Given the description of an element on the screen output the (x, y) to click on. 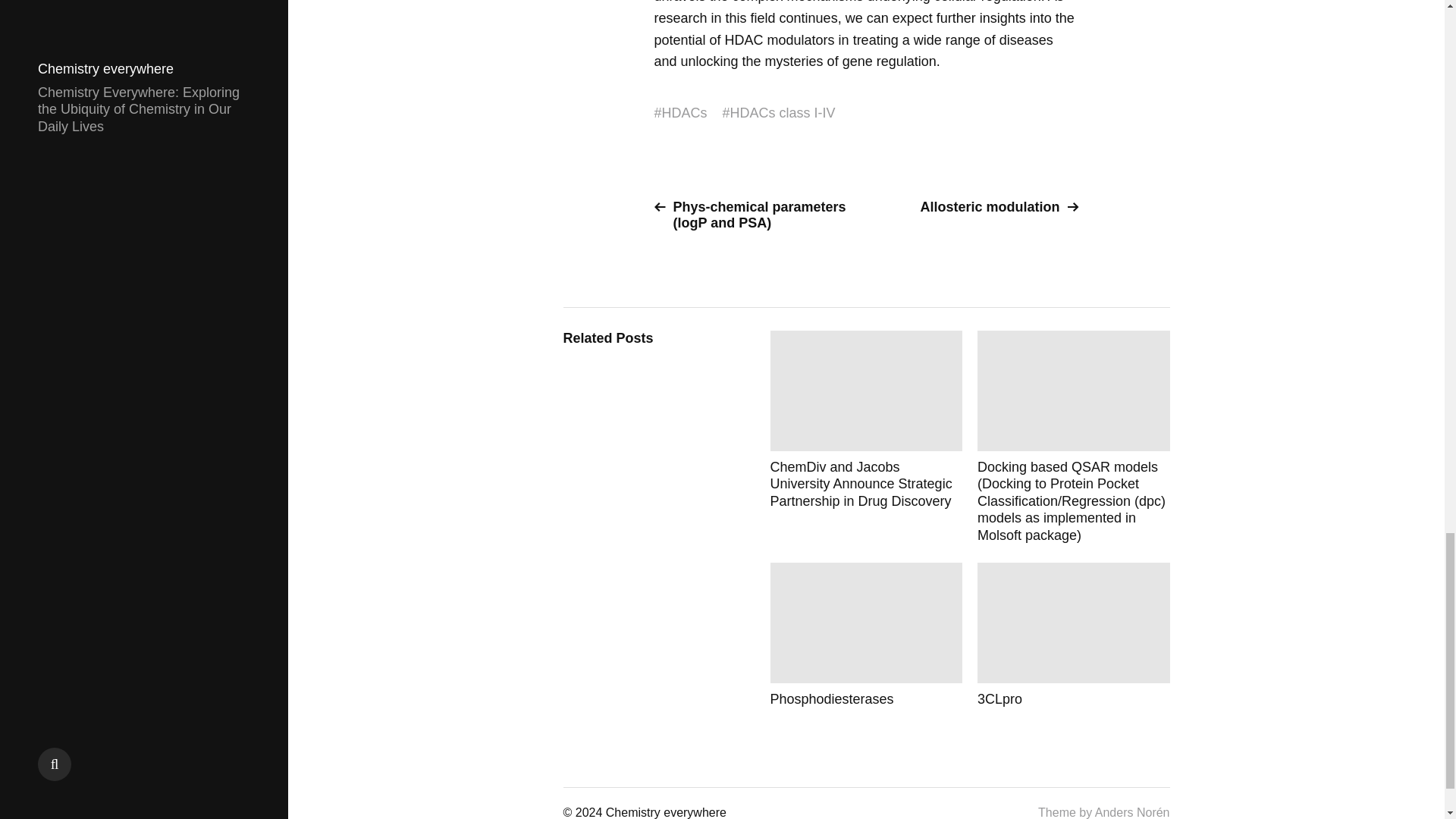
3CLpro (1073, 634)
Allosteric modulation (977, 207)
Phosphodiesterases (866, 634)
HDACs (684, 113)
HDACs class I-IV (782, 113)
